Given the description of an element on the screen output the (x, y) to click on. 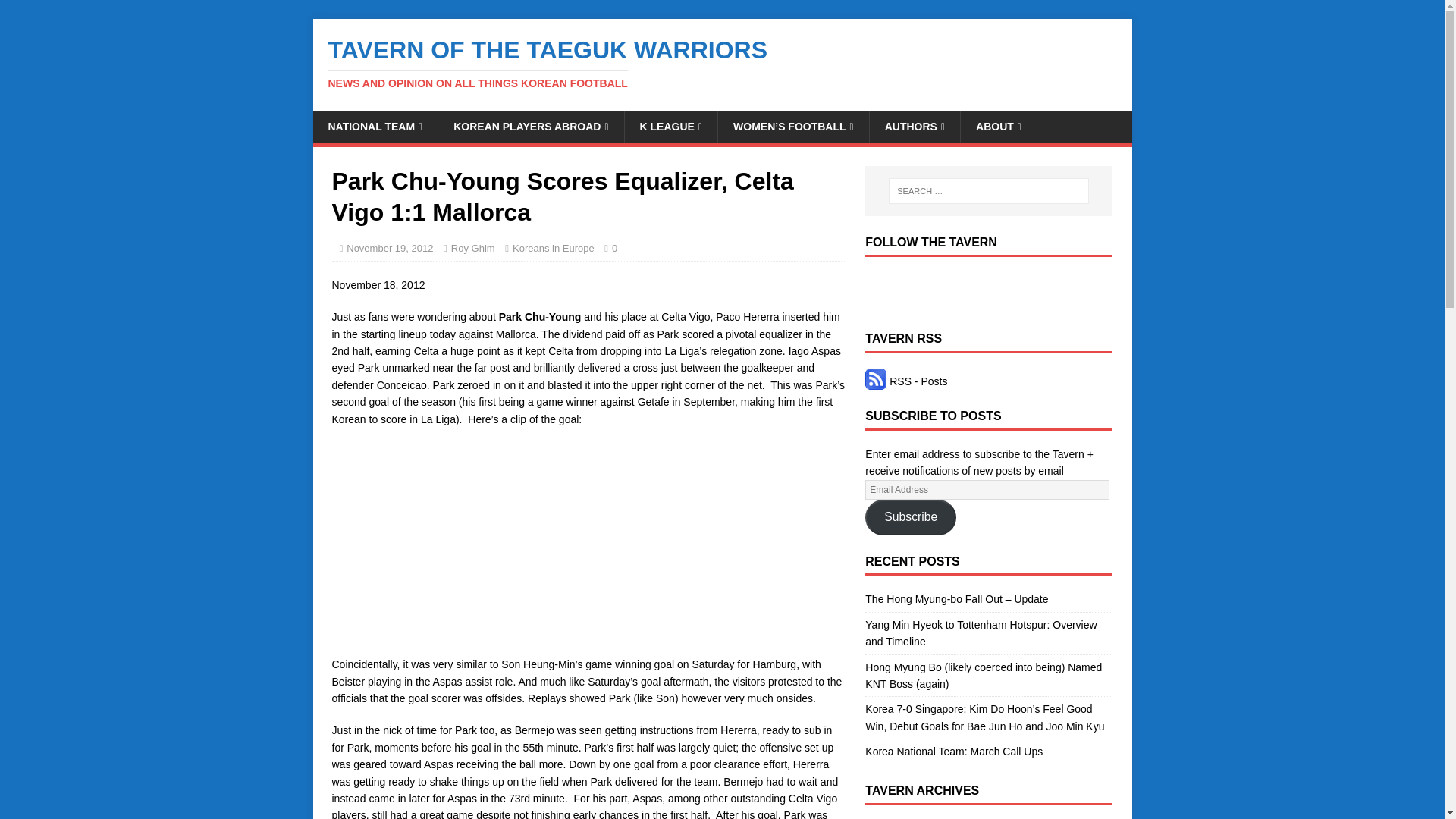
NATIONAL TEAM (375, 126)
K LEAGUE (670, 126)
KOREAN PLAYERS ABROAD (530, 126)
AUTHORS (914, 126)
Roy Ghim (473, 247)
Tavern of the Taeguk Warriors (721, 63)
November 19, 2012 (389, 247)
ABOUT (997, 126)
Koreans in Europe (553, 247)
